Given the description of an element on the screen output the (x, y) to click on. 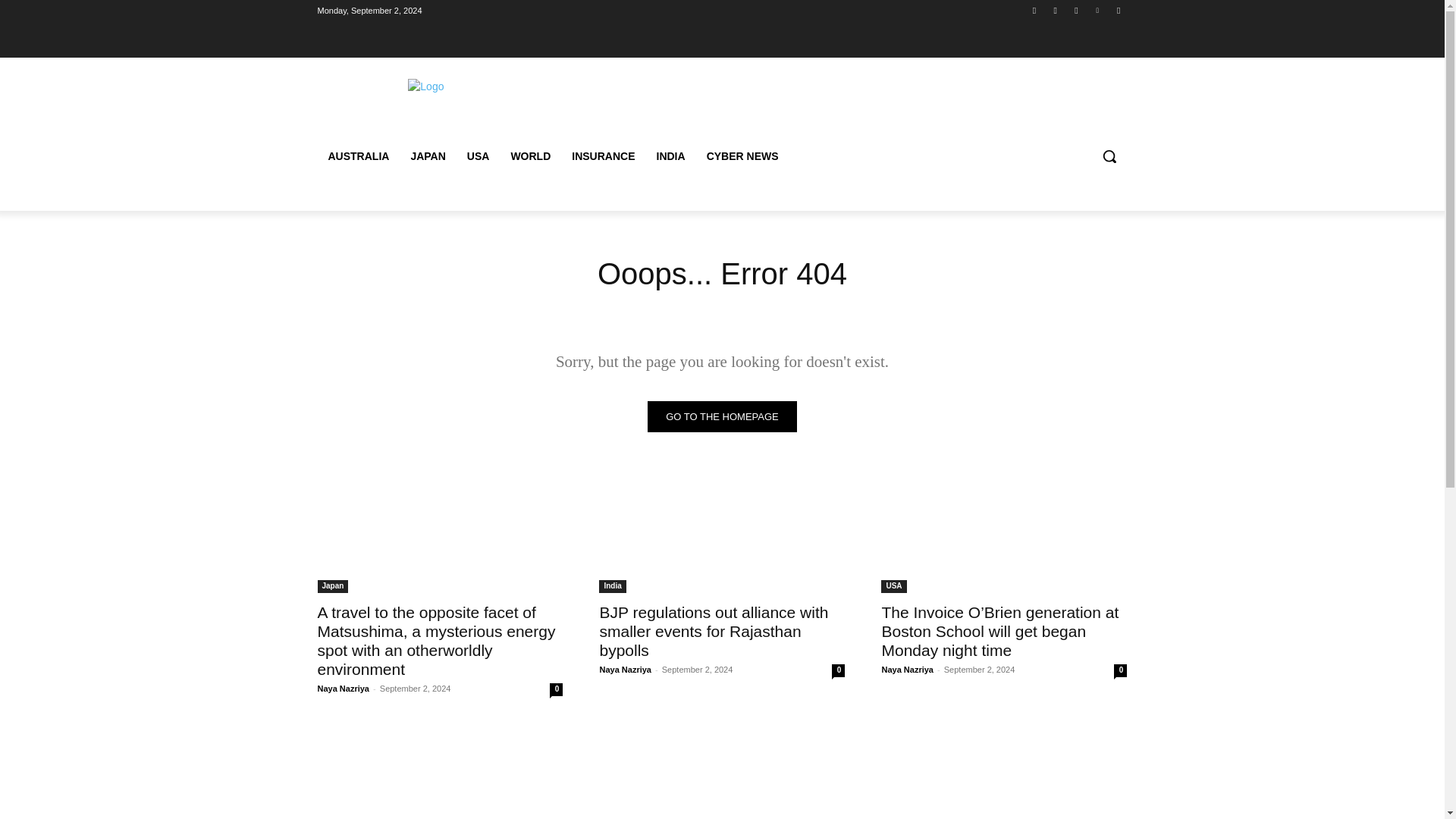
0 (556, 689)
Naya Nazriya (624, 669)
Twitter (1075, 9)
0 (837, 670)
GO TO THE HOMEPAGE (721, 416)
India (612, 585)
CYBER NEWS (742, 156)
Vimeo (1097, 9)
